Given the description of an element on the screen output the (x, y) to click on. 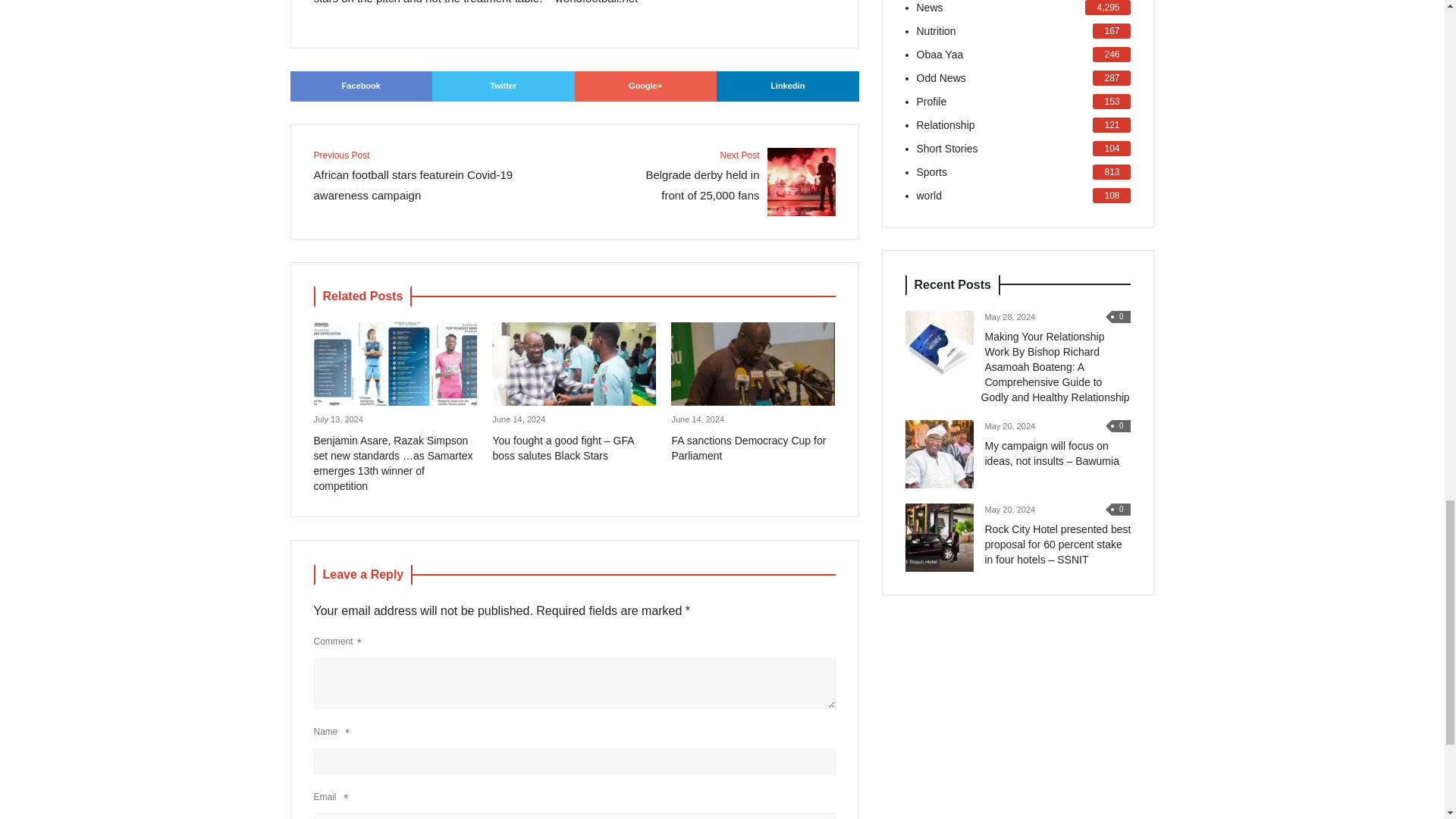
Linkedin (787, 86)
Twitter (730, 182)
Facebook (503, 86)
